Given the description of an element on the screen output the (x, y) to click on. 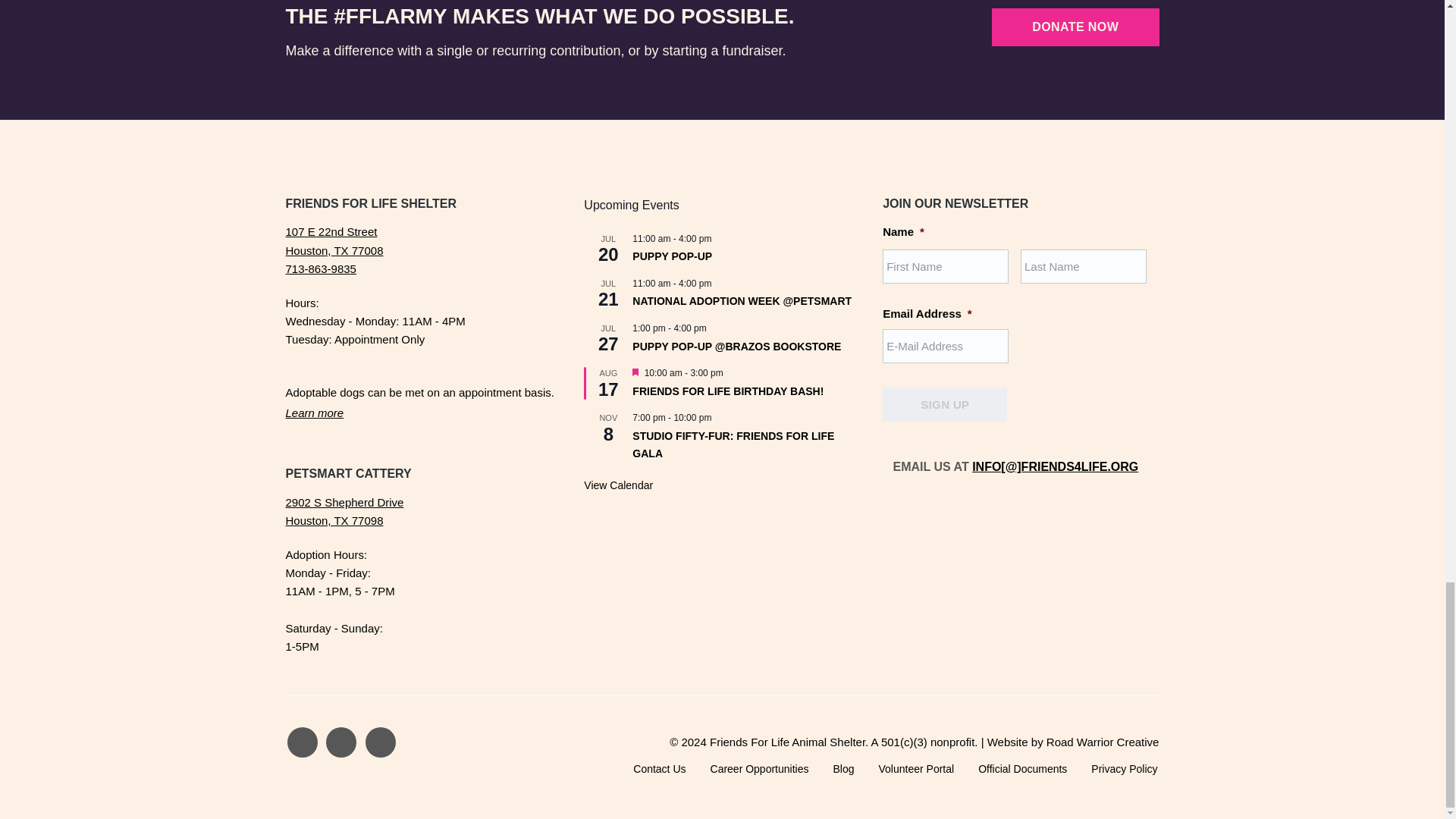
Sign Up (944, 404)
Studio Fifty-Fur: Friends For Life Gala (732, 444)
View more events. (617, 485)
Puppy Pop-up (671, 256)
Friends For Life Birthday Bash! (727, 391)
